Given the description of an element on the screen output the (x, y) to click on. 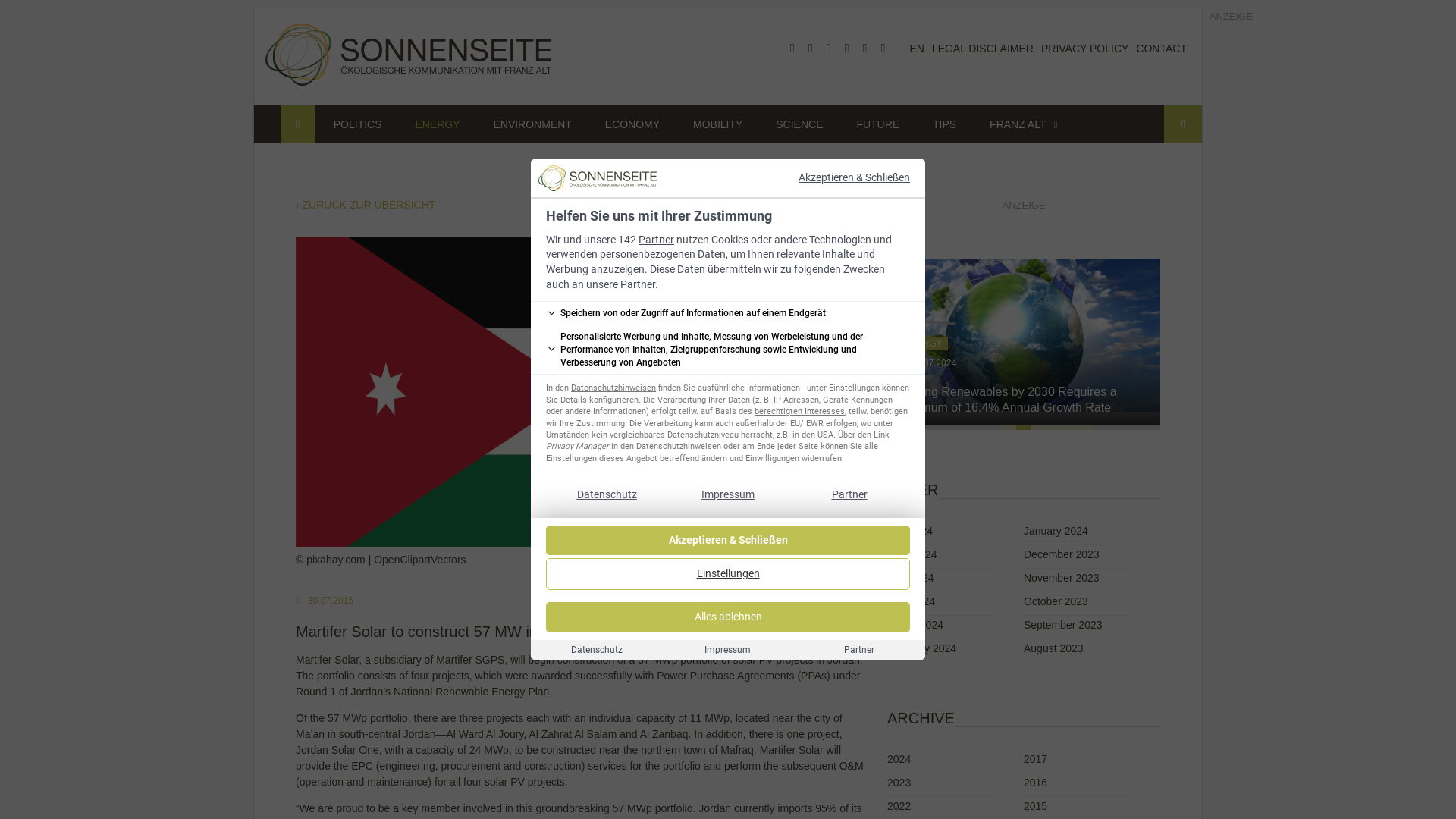
TIPS (944, 124)
rss (882, 48)
PRIVACY POLICY (1084, 48)
SCIENCE (799, 124)
facebook (791, 48)
ECONOMY (632, 124)
xing (864, 48)
youtube (828, 48)
EN (915, 48)
